Given the description of an element on the screen output the (x, y) to click on. 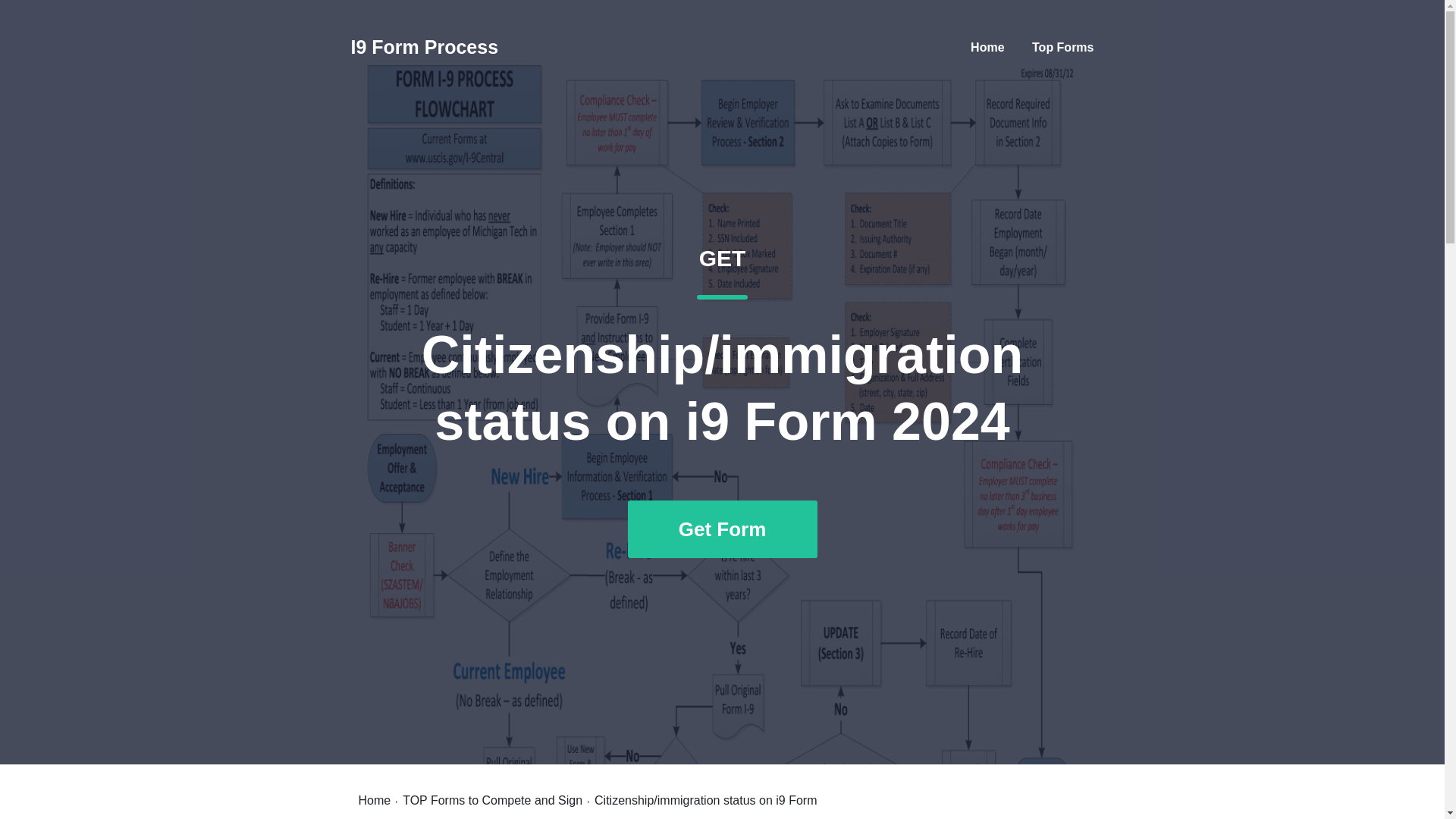
Home (987, 47)
TOP Forms to Compete and Sign (492, 800)
Home (374, 800)
I9 Form Process (423, 46)
Top Forms (1062, 47)
